Given the description of an element on the screen output the (x, y) to click on. 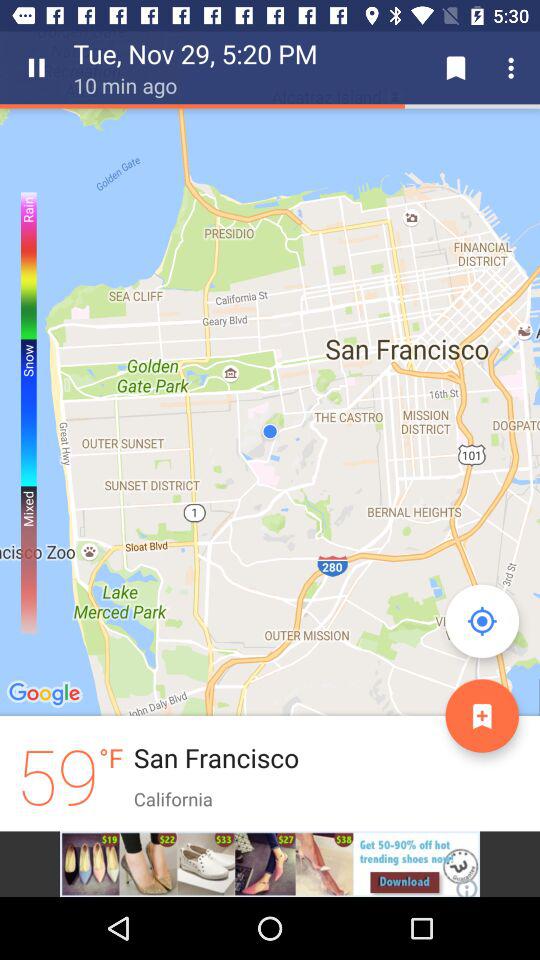
go to location option (482, 621)
